Given the description of an element on the screen output the (x, y) to click on. 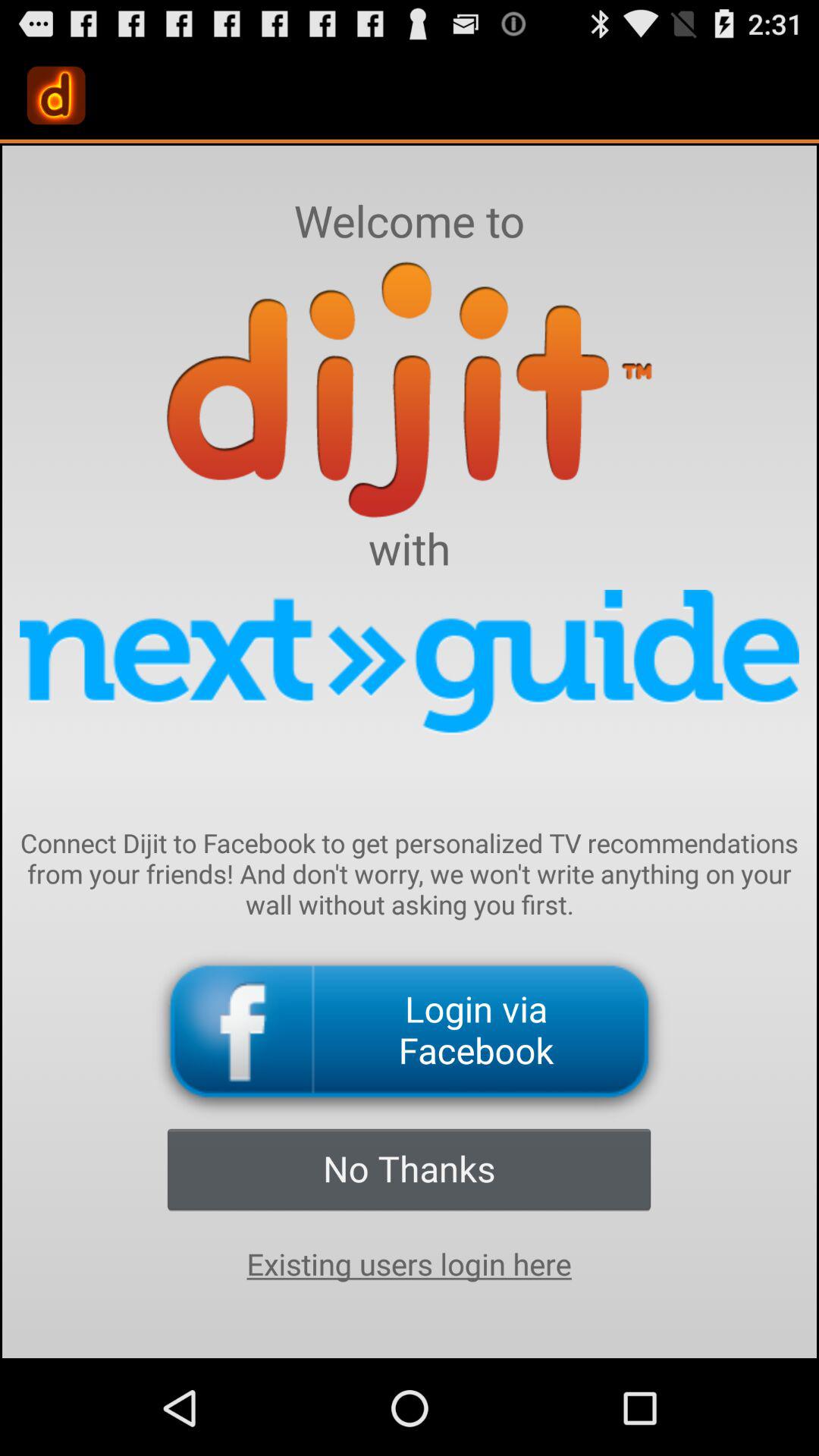
open the icon above the existing users login item (409, 1168)
